Given the description of an element on the screen output the (x, y) to click on. 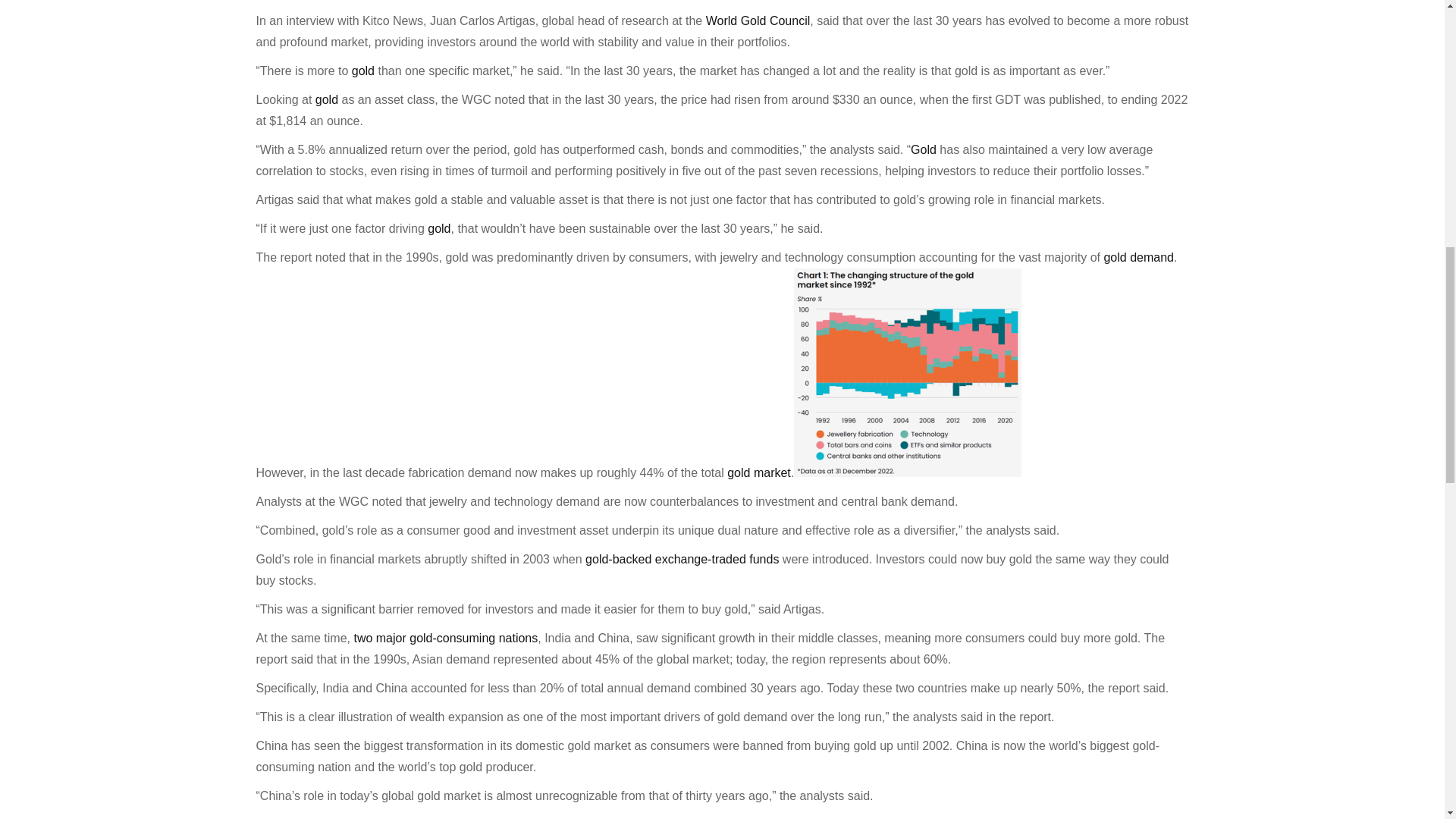
World Gold Council (755, 20)
gold (438, 228)
gold market (758, 472)
gold (325, 99)
Gold (925, 149)
gold (363, 70)
gold demand (1136, 256)
two major gold-consuming nations (443, 637)
gold-backed exchange-traded funds (681, 558)
